Given the description of an element on the screen output the (x, y) to click on. 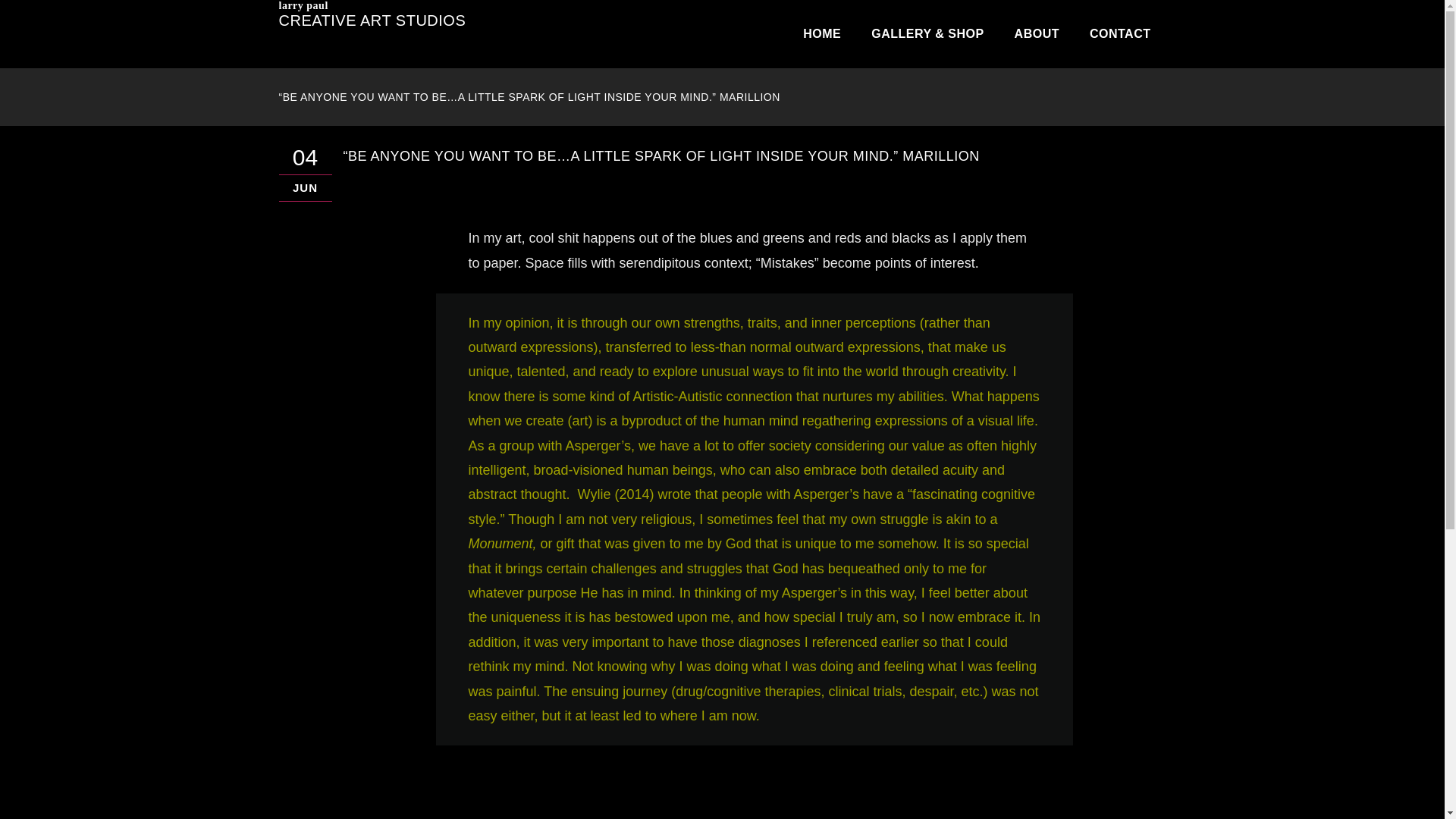
ABOUT (1036, 33)
larry paul (372, 6)
CONTACT (1120, 33)
HOME (821, 33)
Larry Paul (372, 6)
